Given the description of an element on the screen output the (x, y) to click on. 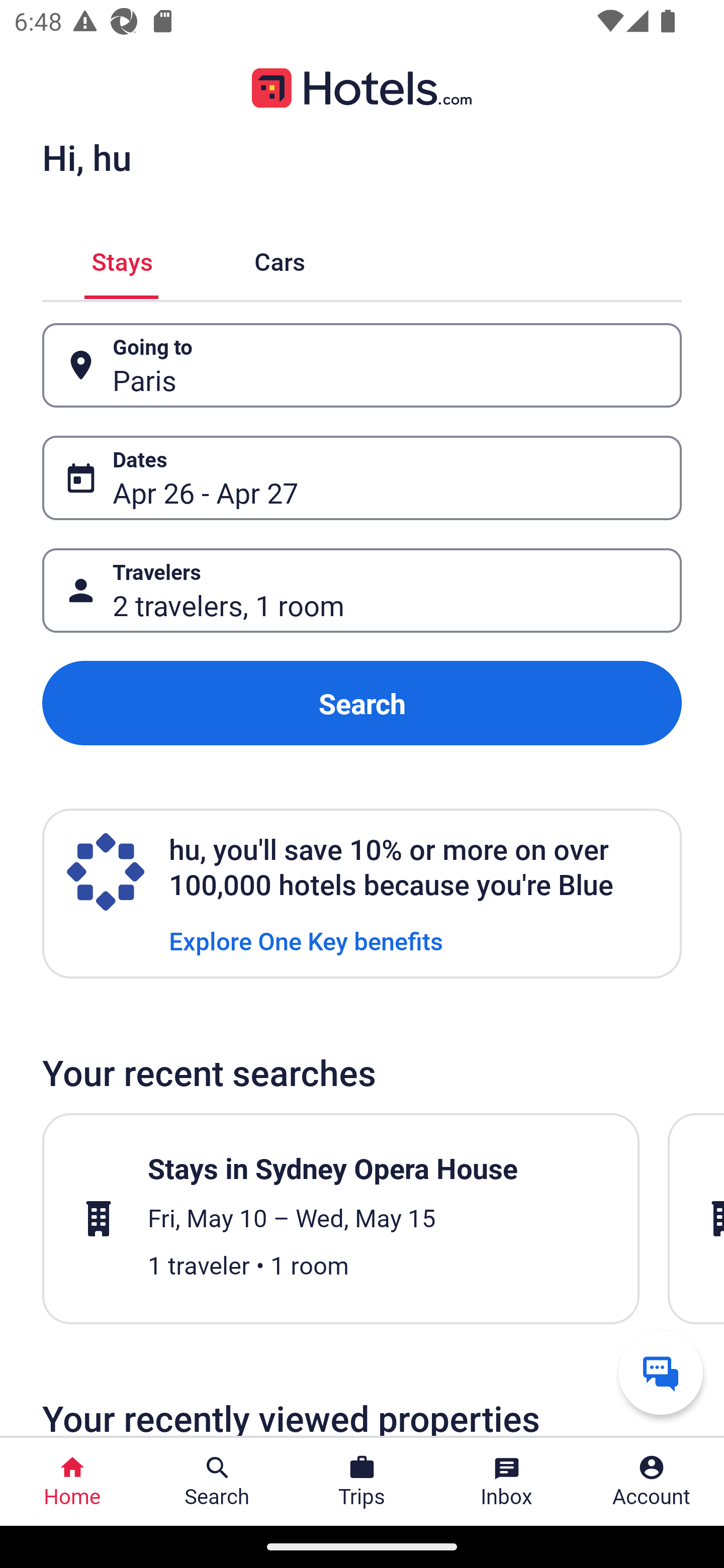
Hi, hu (86, 156)
Cars (279, 259)
Going to Button Paris (361, 365)
Dates Button Apr 26 - Apr 27 (361, 477)
Travelers Button 2 travelers, 1 room (361, 590)
Search (361, 702)
Get help from a virtual agent (660, 1371)
Search Search Button (216, 1481)
Trips Trips Button (361, 1481)
Inbox Inbox Button (506, 1481)
Account Profile. Button (651, 1481)
